Given the description of an element on the screen output the (x, y) to click on. 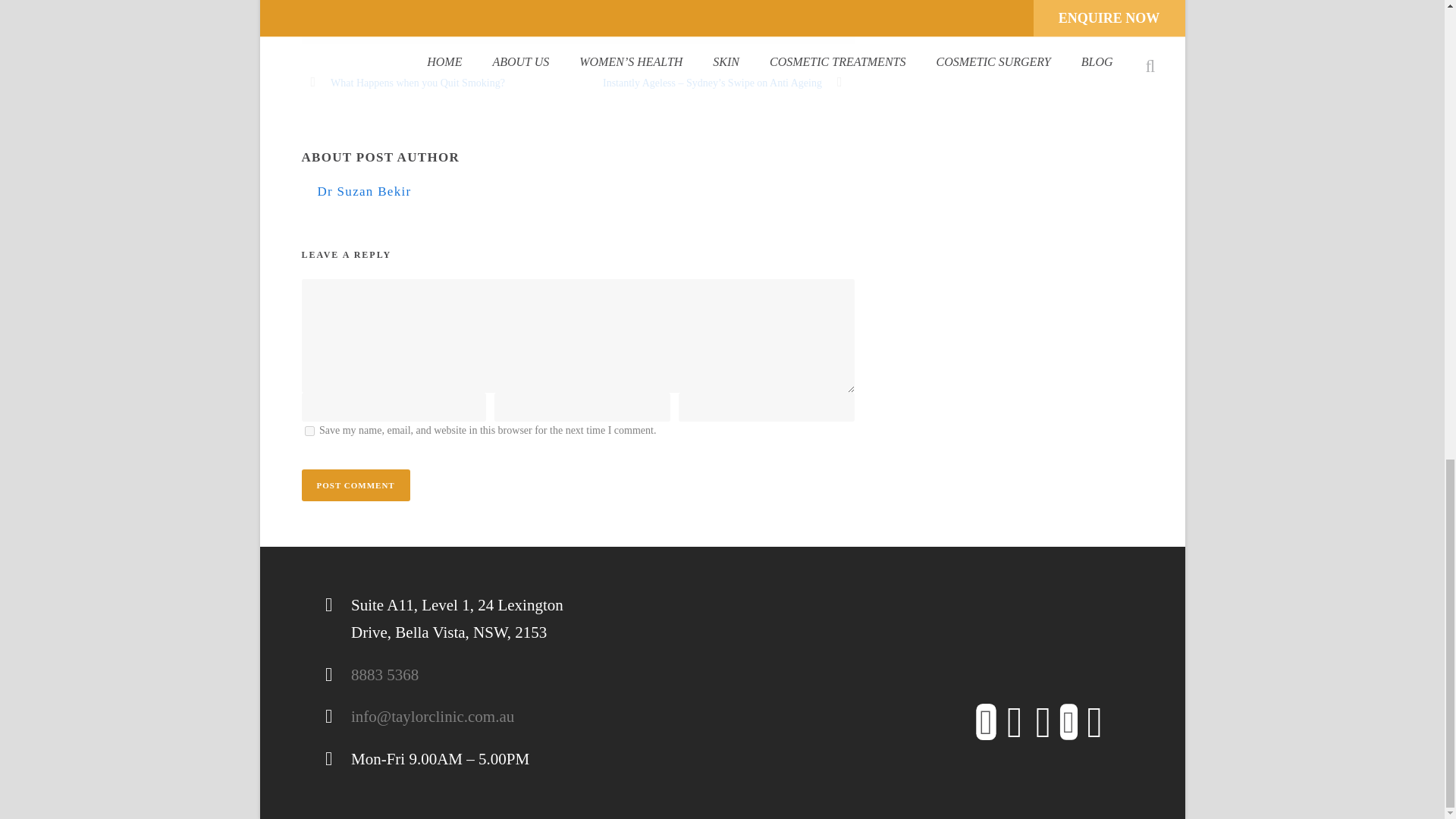
yes (309, 430)
Post Comment (355, 485)
Posts by Dr Suzan Bekir (363, 191)
